Given the description of an element on the screen output the (x, y) to click on. 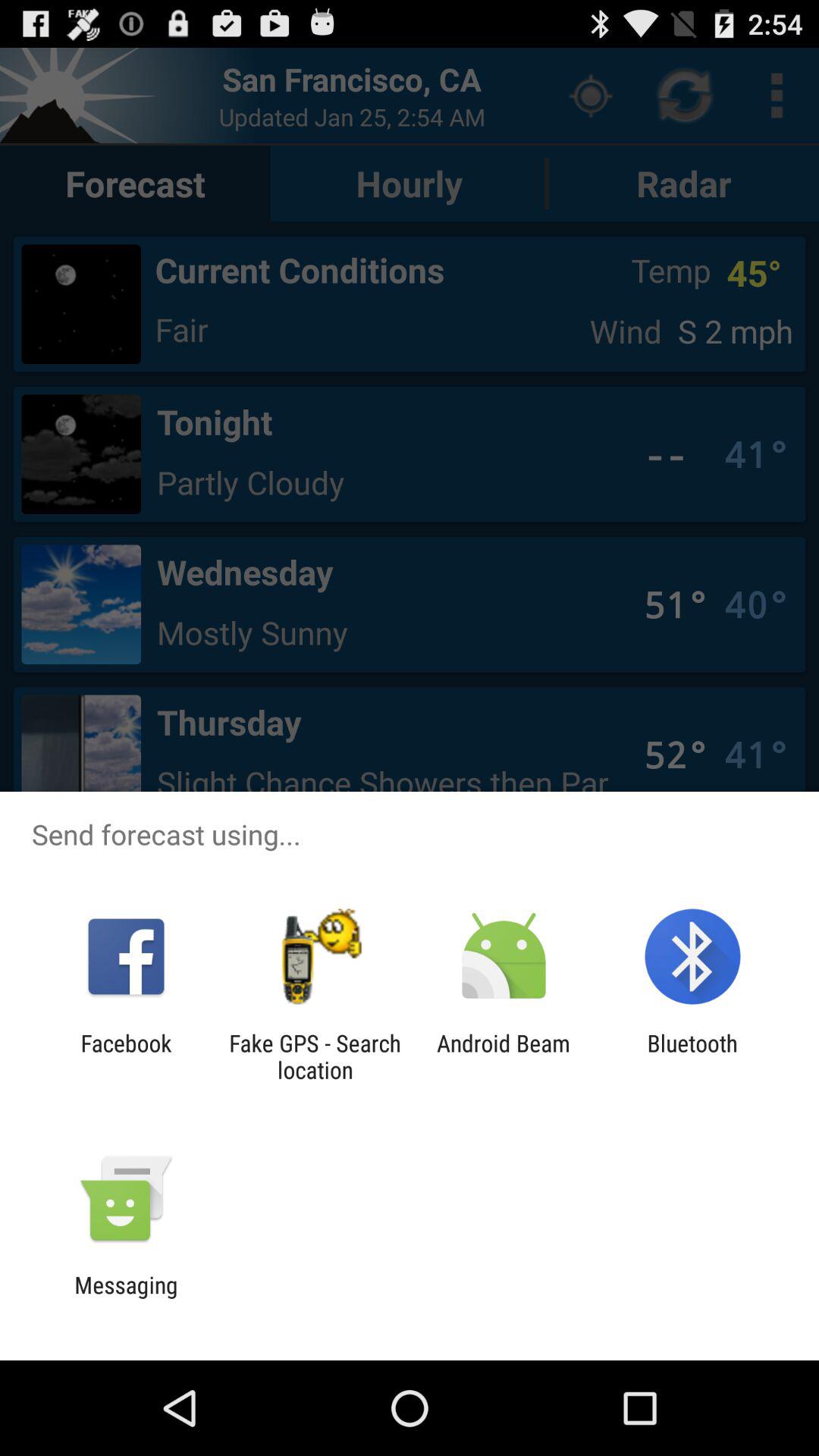
press app to the left of fake gps search (125, 1056)
